Given the description of an element on the screen output the (x, y) to click on. 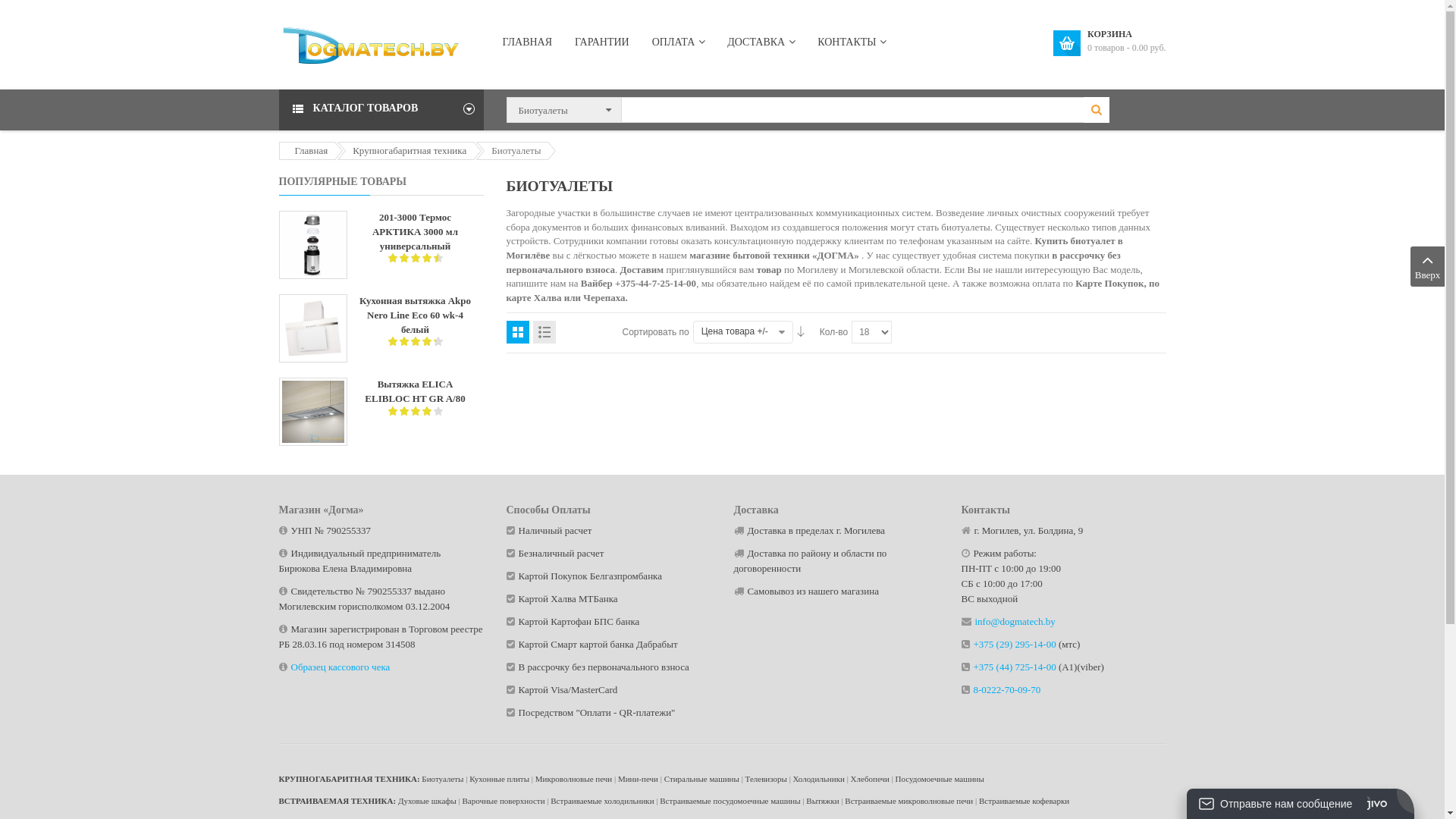
8-0222-70-09-70 Element type: text (1007, 689)
info@dogmatech.by Element type: text (1015, 621)
+375 (29) 295-14-00 Element type: text (1014, 643)
Search Element type: text (1095, 109)
+375 (44) 725-14-00 Element type: text (1014, 666)
